Given the description of an element on the screen output the (x, y) to click on. 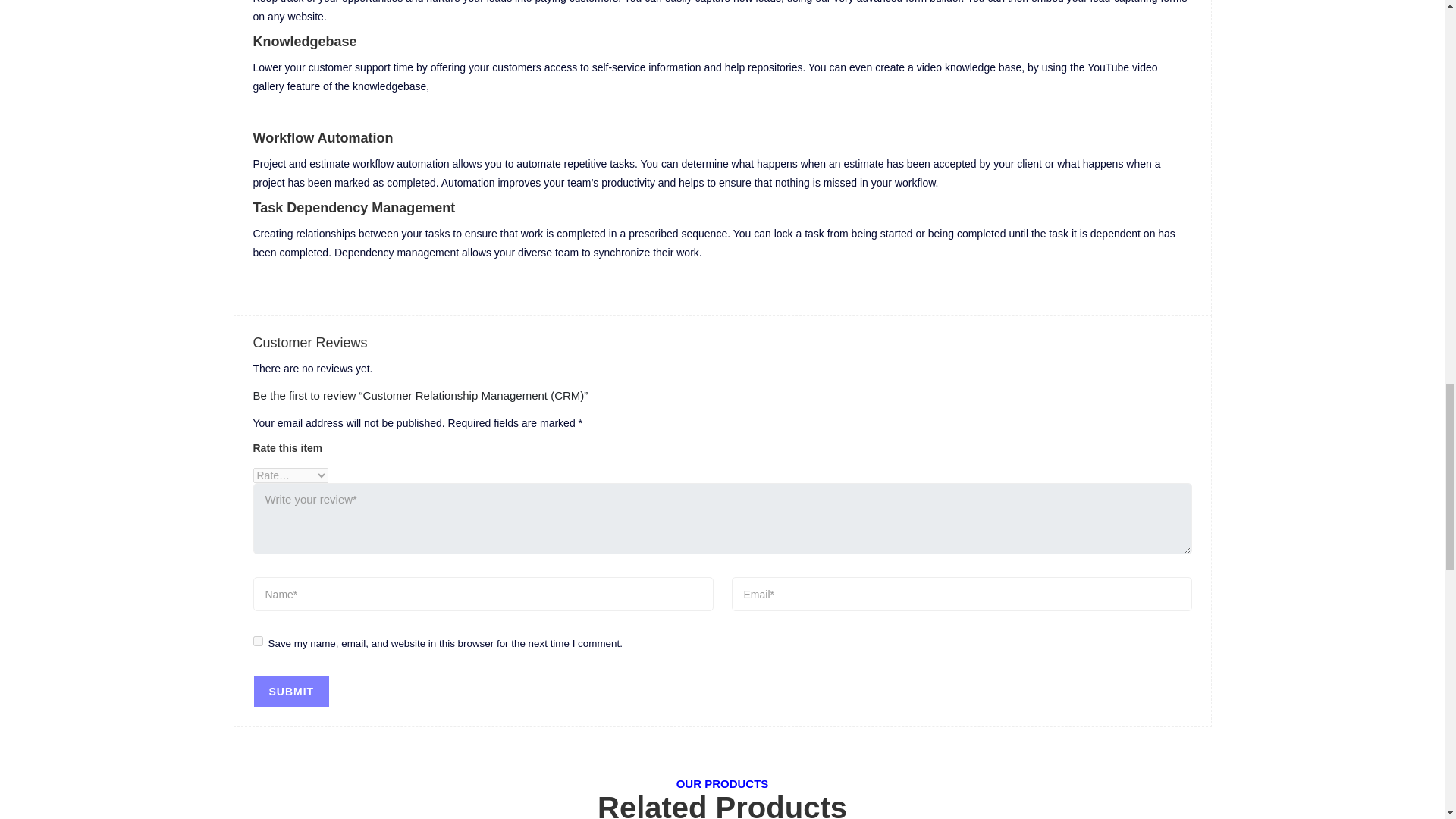
Submit (291, 691)
yes (258, 641)
Submit (291, 691)
